Given the description of an element on the screen output the (x, y) to click on. 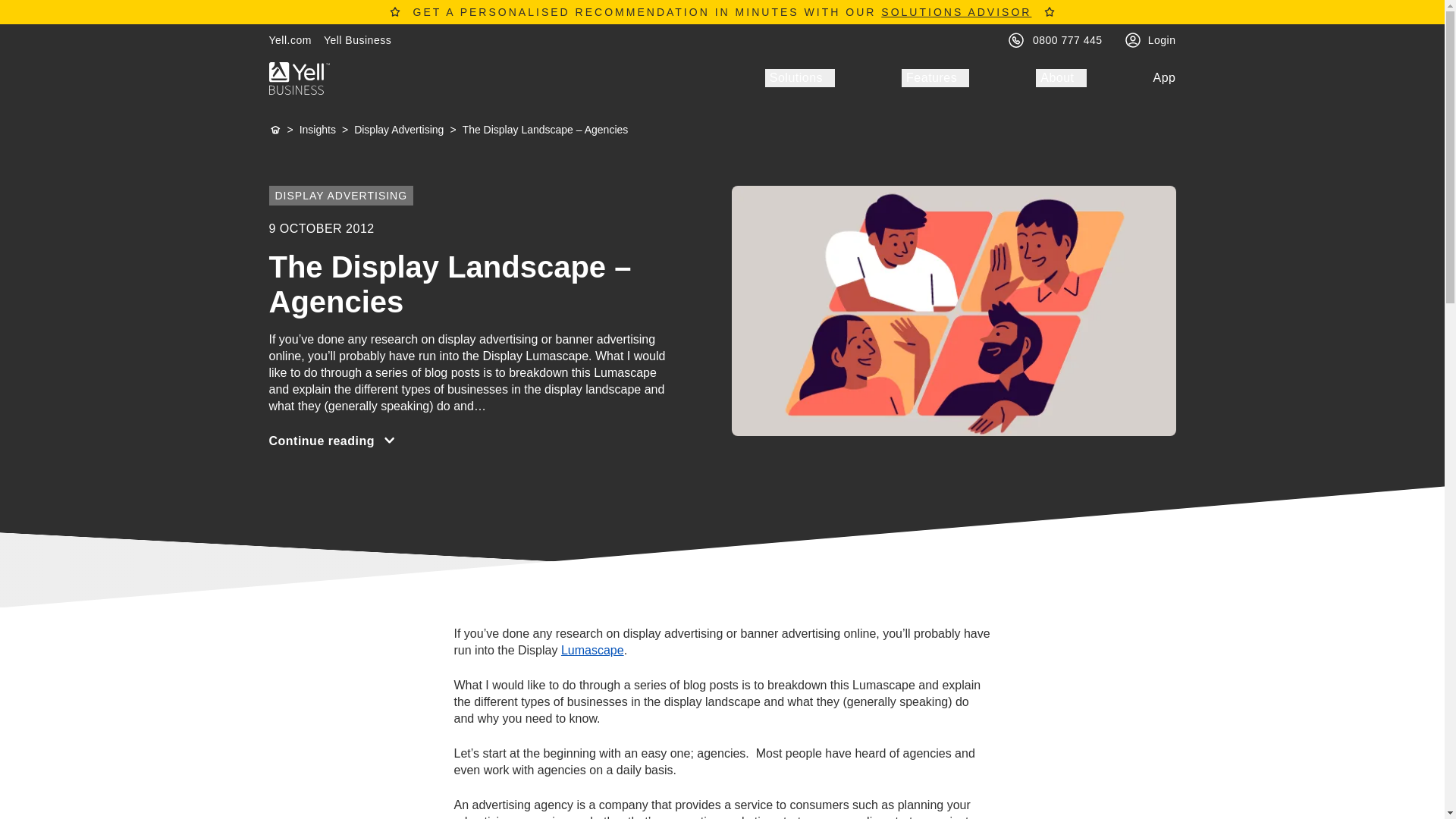
About (1060, 77)
Features (935, 77)
0800 777 445 (1067, 39)
Yell Business (357, 39)
SOLUTIONS ADVISOR (955, 11)
Login (1162, 39)
Yell.com (289, 39)
Solutions (799, 77)
